Given the description of an element on the screen output the (x, y) to click on. 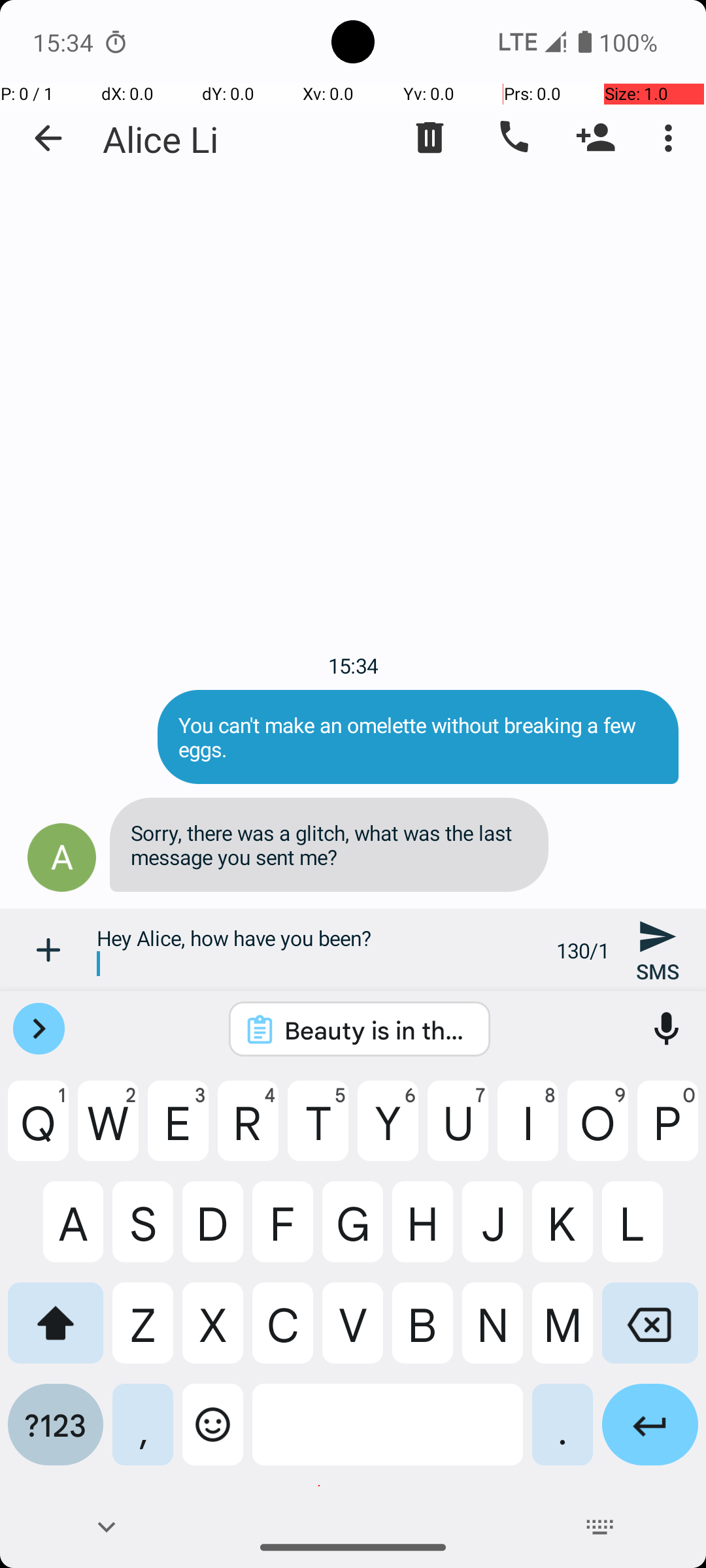
Alice Li Element type: android.widget.TextView (160, 138)
Hey Alice, how have you been?
 Element type: android.widget.EditText (318, 949)
130/1 Element type: android.widget.TextView (582, 950)
You can't make an omelette without breaking a few eggs. Element type: android.widget.TextView (417, 736)
Beauty is in the eye of the beholder. Element type: android.widget.TextView (376, 1029)
